Given the description of an element on the screen output the (x, y) to click on. 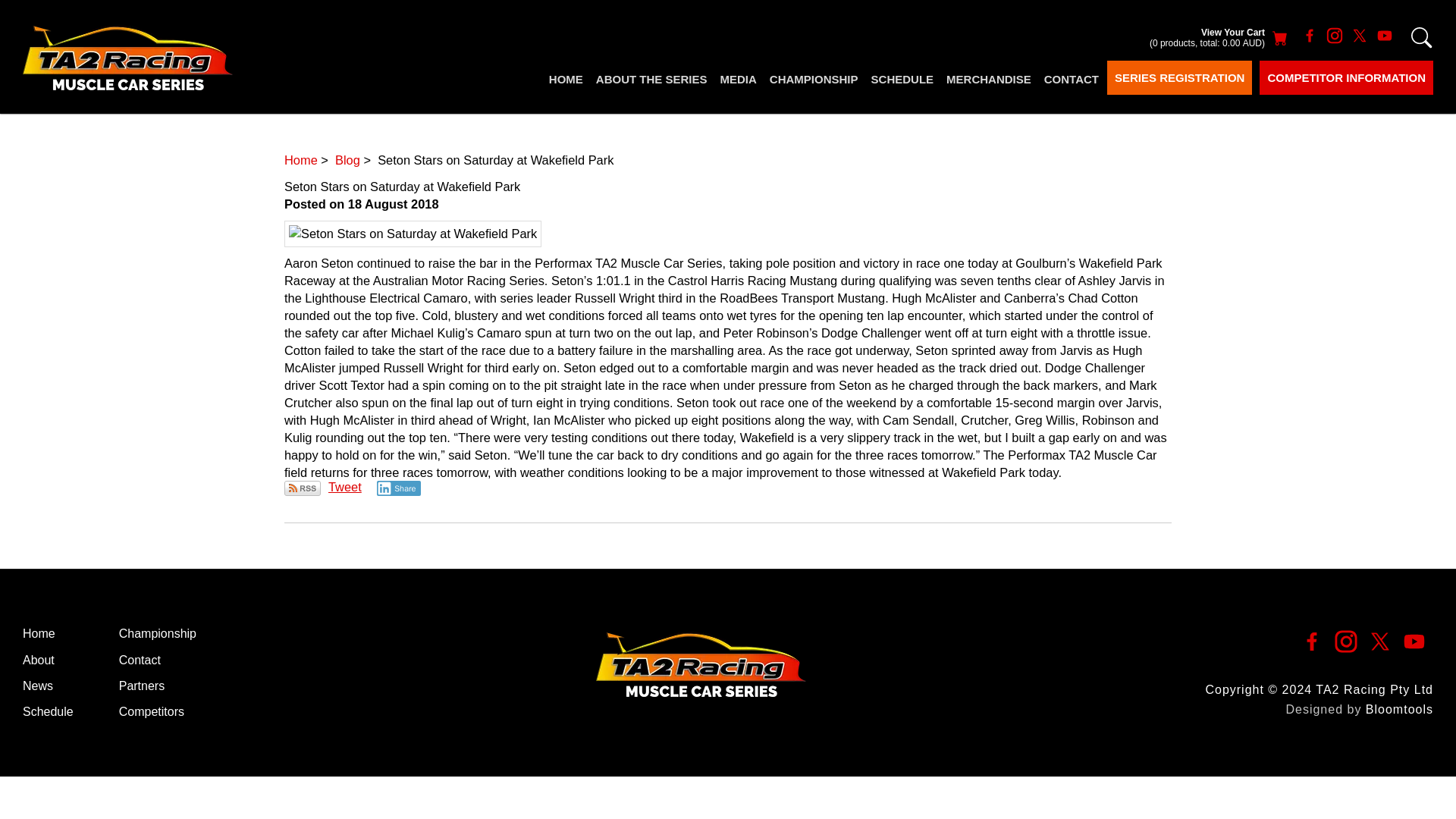
MEDIA (738, 79)
Home (300, 160)
HOME (565, 79)
Search (1421, 37)
Search (1421, 37)
Share it on Twitter (345, 486)
Subscribe via RSS (301, 488)
SCHEDULE (902, 79)
TA2 Racing Pty Ltd (127, 57)
CHAMPIONSHIP (813, 79)
ABOUT THE SERIES (651, 79)
Seton Stars on Saturday at Wakefield Park (412, 233)
Blog (346, 160)
MERCHANDISE (988, 79)
TA2 Racing Pty Ltd (700, 663)
